Given the description of an element on the screen output the (x, y) to click on. 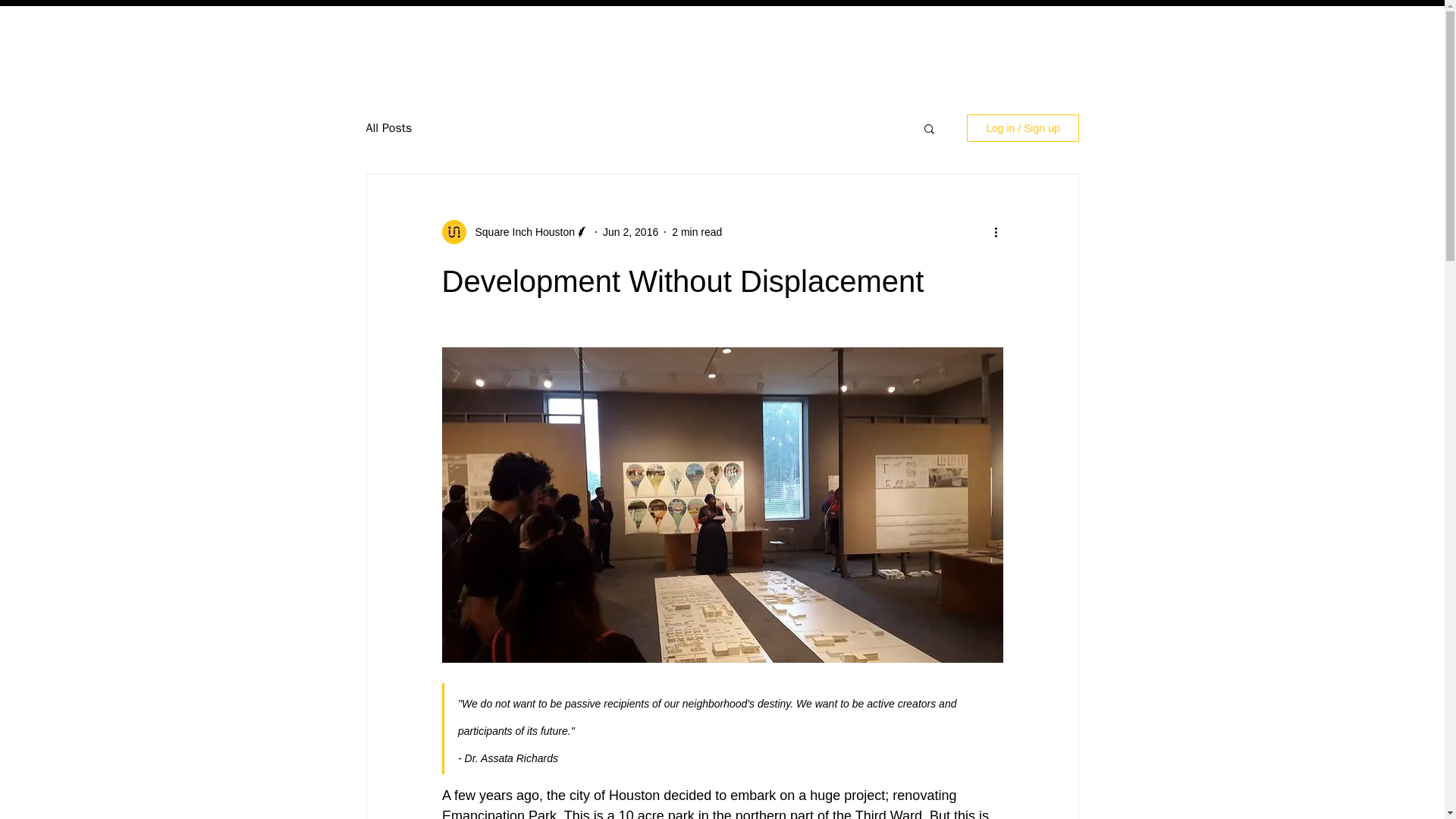
Jun 2, 2016 (630, 232)
2 min read (696, 232)
All Posts (388, 128)
Square Inch Houston (520, 232)
